Given the description of an element on the screen output the (x, y) to click on. 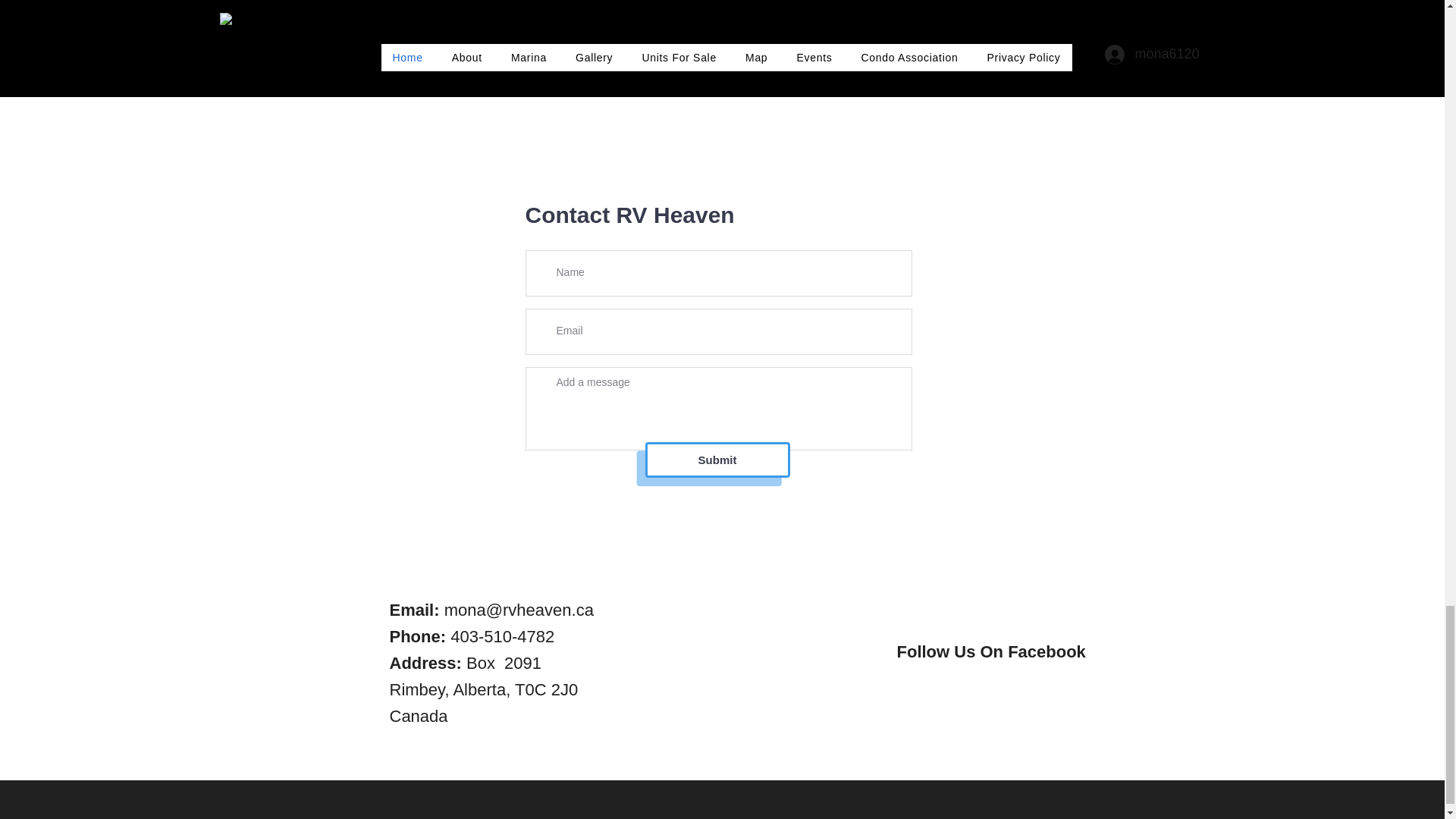
Rimbey, Alberta, T0C 2J0 Canada (484, 702)
Submit (717, 459)
403-510-4782 (501, 636)
Address: Box  2091 (465, 662)
